Given the description of an element on the screen output the (x, y) to click on. 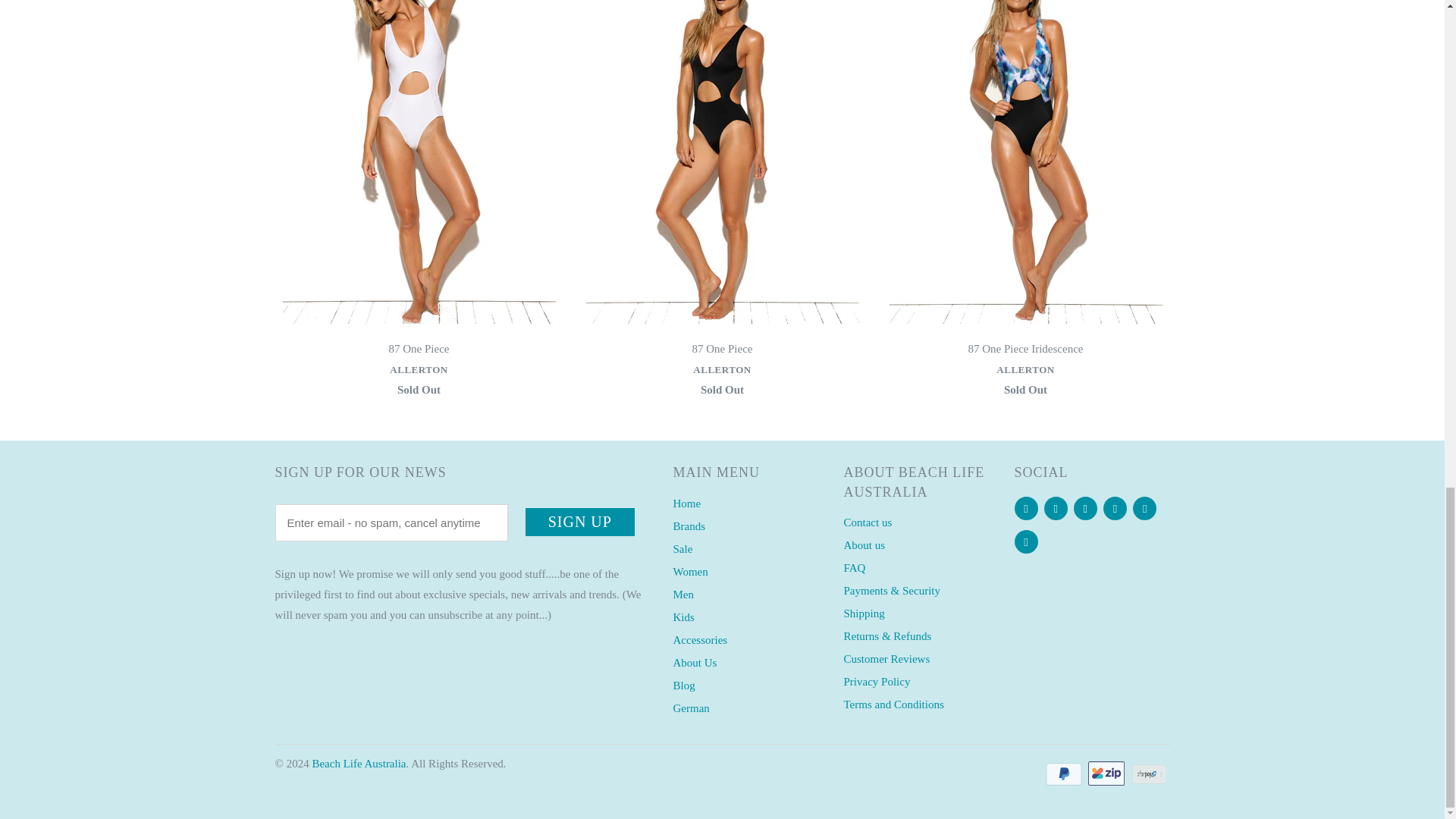
Sign Up (579, 521)
